Given the description of an element on the screen output the (x, y) to click on. 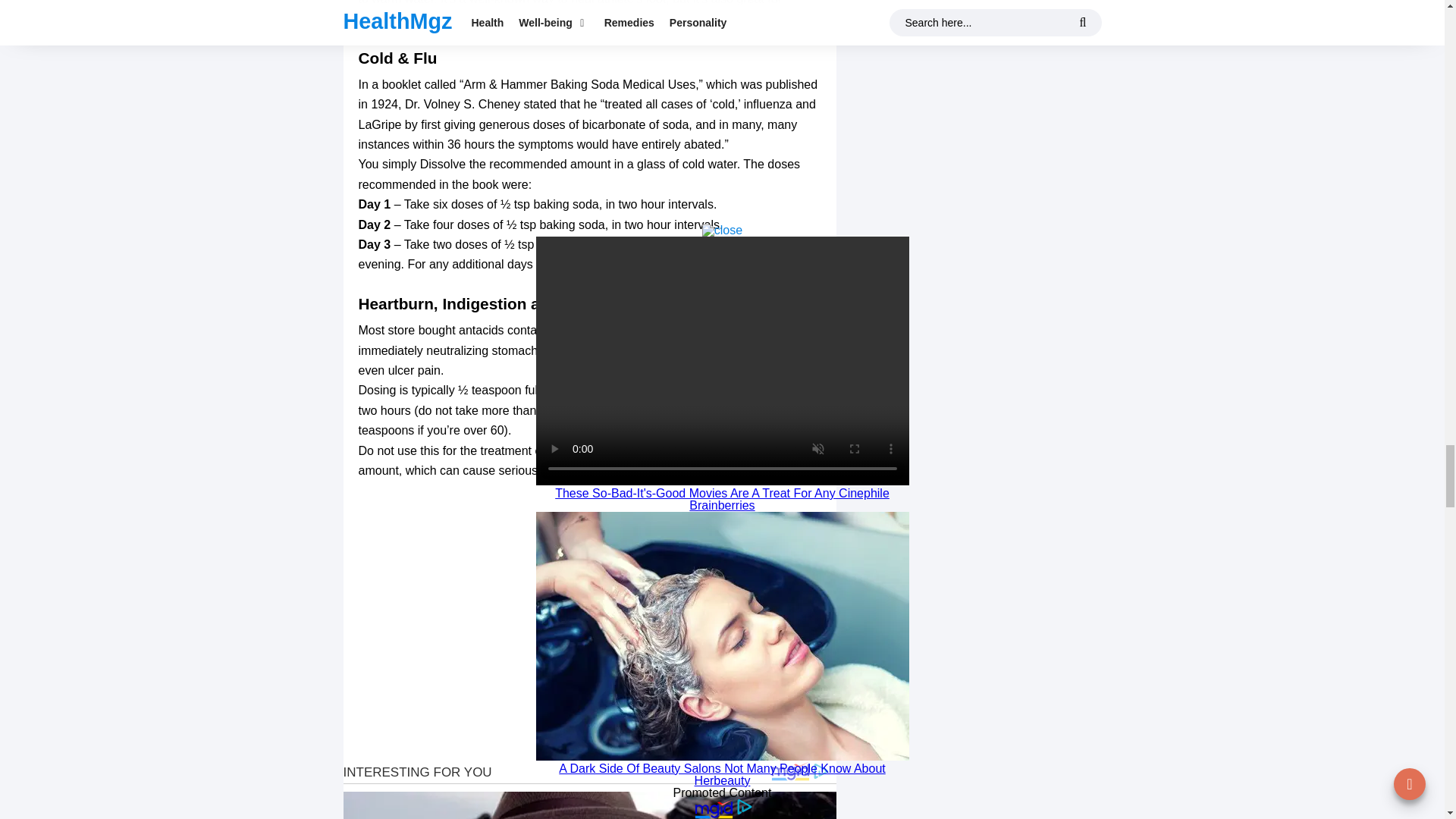
YouTube video player (589, 620)
